Given the description of an element on the screen output the (x, y) to click on. 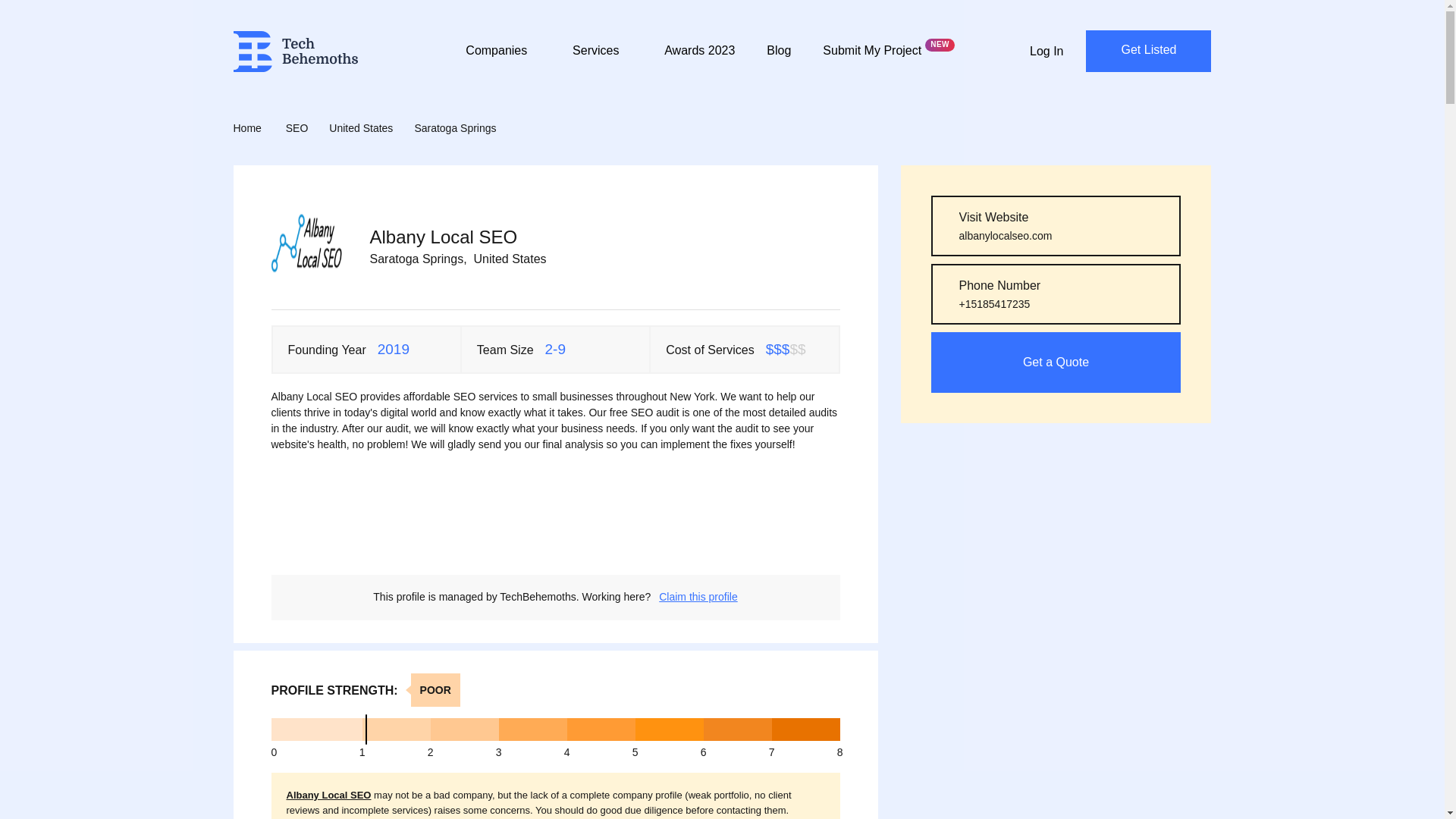
Companies (502, 59)
